Given the description of an element on the screen output the (x, y) to click on. 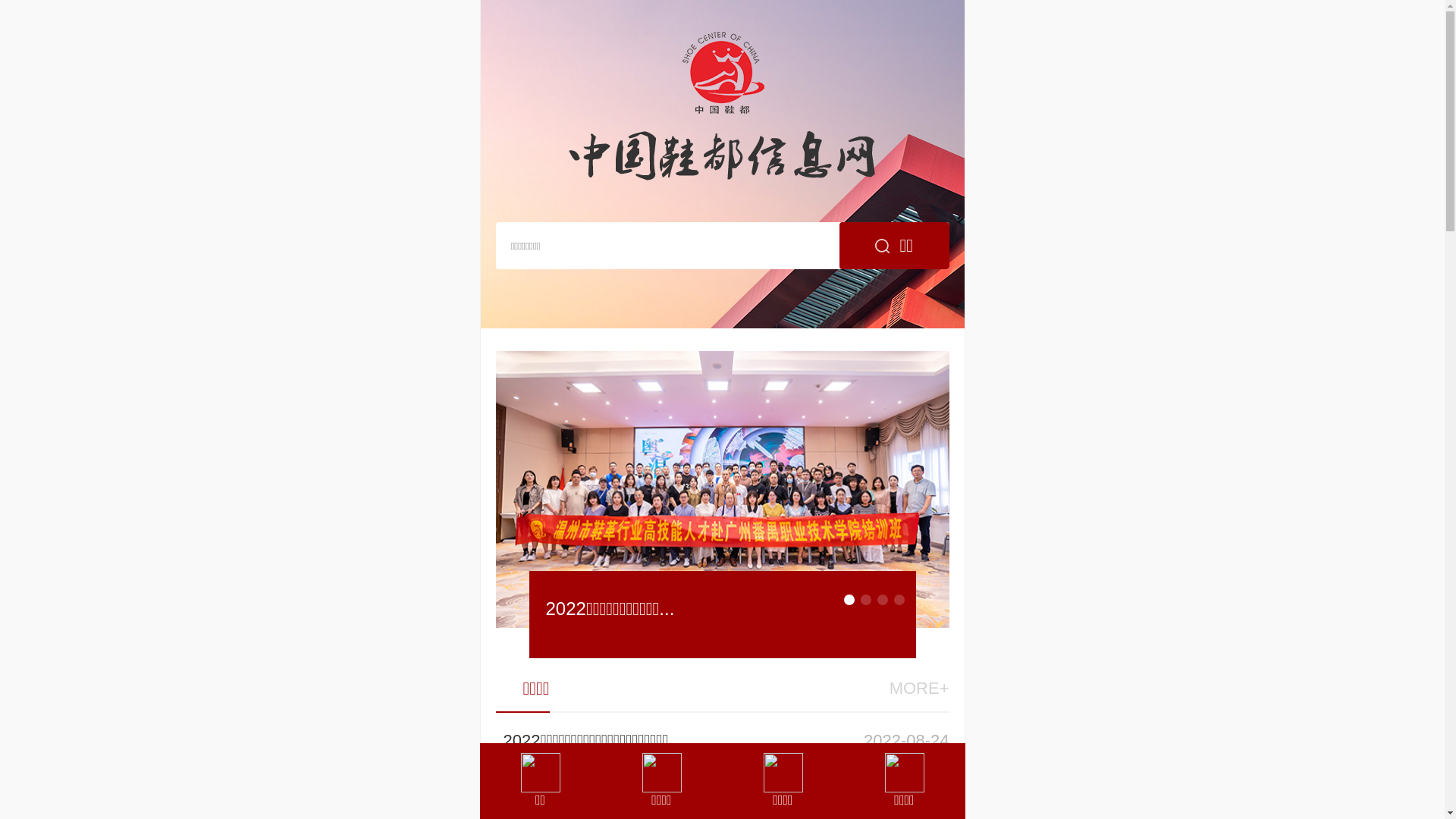
MORE+ Element type: text (919, 688)
